Given the description of an element on the screen output the (x, y) to click on. 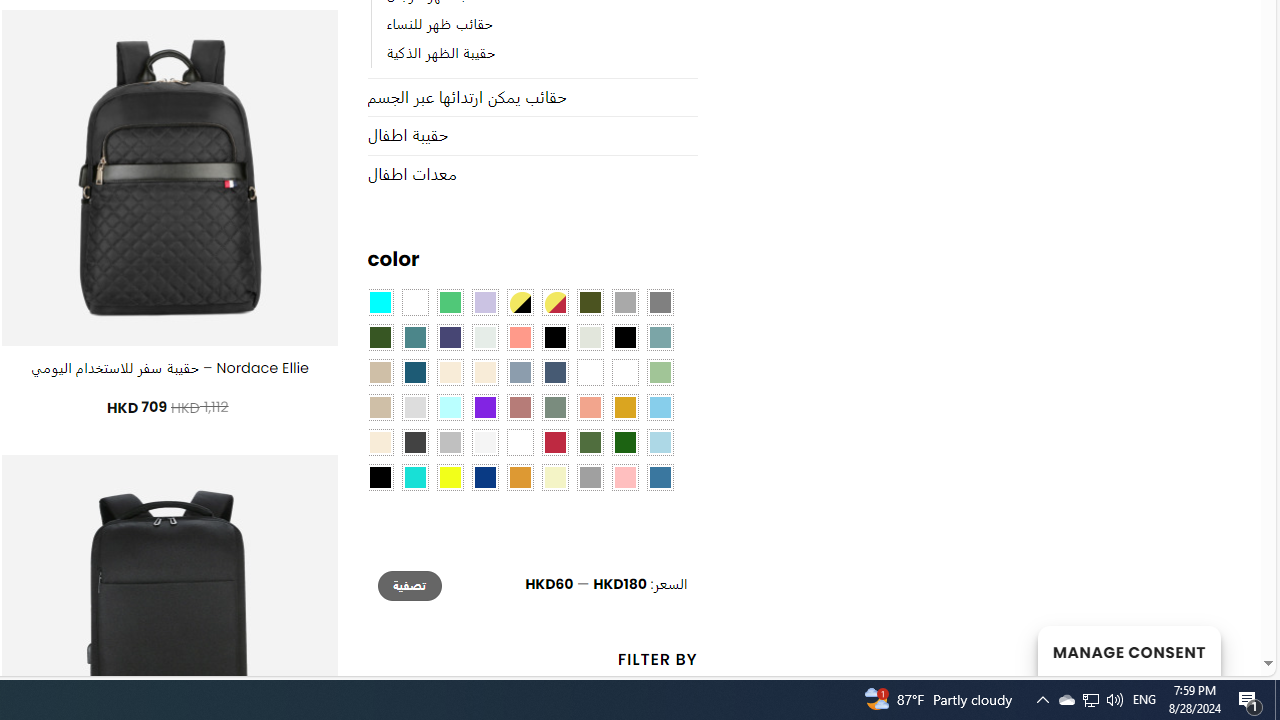
Yellow-Red (554, 303)
Sage (554, 408)
Kelp (589, 372)
Cream (484, 372)
Light Taupe (379, 408)
Khaki (624, 372)
Mint (449, 408)
